Given the description of an element on the screen output the (x, y) to click on. 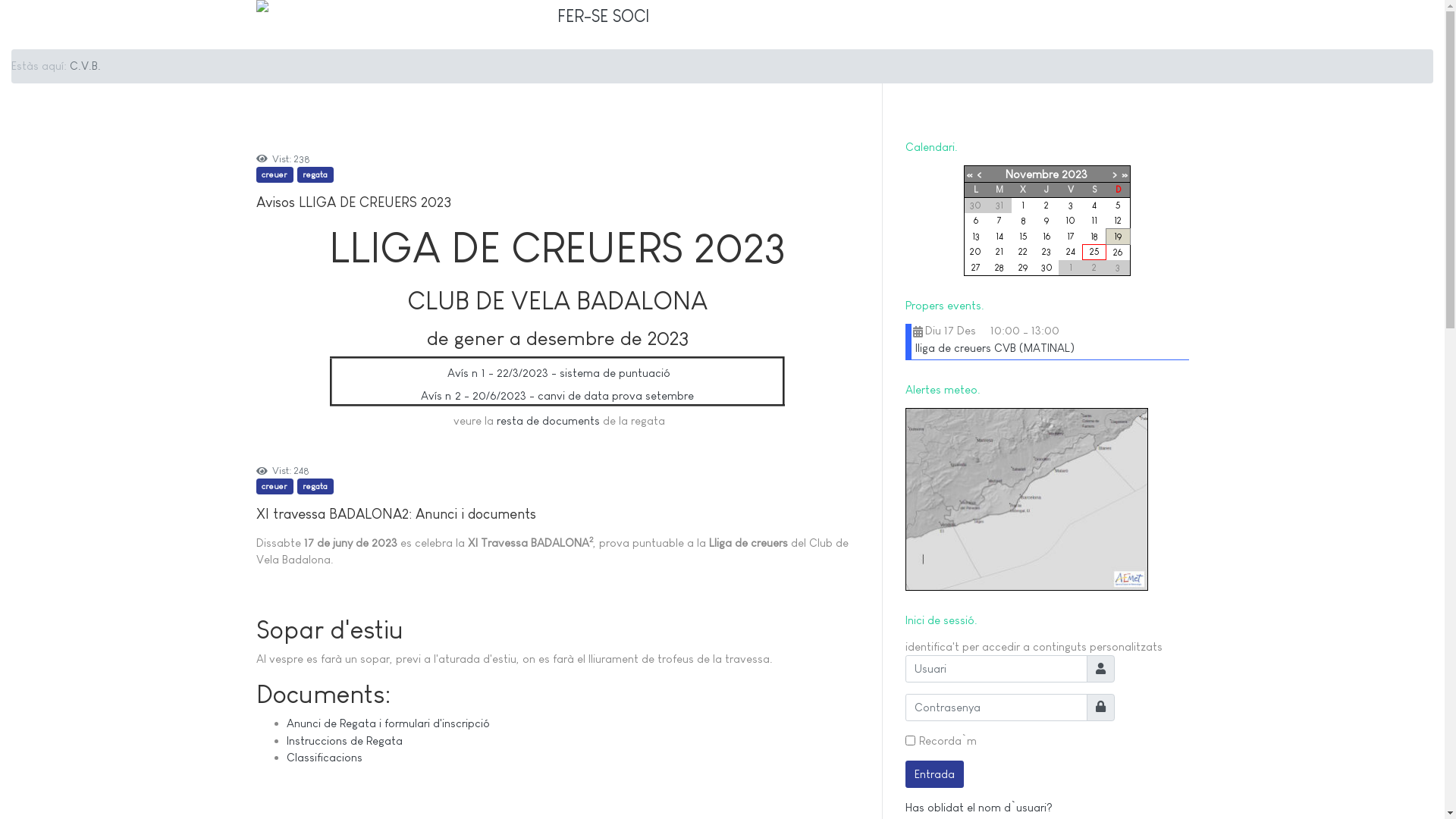
11 Element type: text (1094, 220)
18 Element type: text (1093, 235)
lliga de creuers CVB (MATINAL) Element type: text (993, 347)
13 Element type: text (975, 236)
15 Element type: text (1023, 236)
29 Element type: text (1022, 267)
Classificacions Element type: text (324, 756)
Usuari Element type: hover (1099, 668)
25 Element type: text (1094, 251)
28 Element type: text (998, 267)
27 Element type: text (975, 267)
16 Element type: text (1046, 236)
Avisos de temps sever al litoral de Barcelona Element type: hover (1026, 498)
30 Element type: text (1046, 267)
3 Element type: text (1070, 205)
Avisos LLIGA DE CREUERS 2023 Element type: text (353, 202)
2 Element type: text (1046, 205)
9 Element type: text (1046, 220)
Club Vela Badalona Element type: hover (280, 24)
17 Element type: text (1070, 236)
4 Element type: text (1094, 205)
Novembre Element type: text (1031, 173)
resta de documents Element type: text (547, 420)
7 Element type: text (999, 220)
23 Element type: text (1046, 251)
21 Element type: text (999, 251)
Entrada Element type: text (934, 773)
1 Element type: text (1022, 205)
Avisos de temps sever Element type: hover (1026, 497)
Instruccions de Regata Element type: text (344, 740)
19 Element type: text (1117, 236)
6 Element type: text (975, 220)
2023 Element type: text (1074, 173)
10 Element type: text (1070, 220)
creuer Element type: text (274, 174)
24 Element type: text (1070, 251)
FER-SE SOCI Element type: text (602, 15)
22 Element type: text (1022, 251)
XI travessa BADALONA2: Anunci i documents Element type: text (396, 513)
Has oblidat el nom d`usuari? Element type: text (978, 806)
8 Element type: text (1023, 220)
12 Element type: text (1117, 220)
regata Element type: text (315, 174)
regata Element type: text (315, 486)
26 Element type: text (1117, 252)
creuer Element type: text (274, 486)
20 Element type: text (975, 251)
5 Element type: text (1117, 205)
14 Element type: text (999, 236)
